Given the description of an element on the screen output the (x, y) to click on. 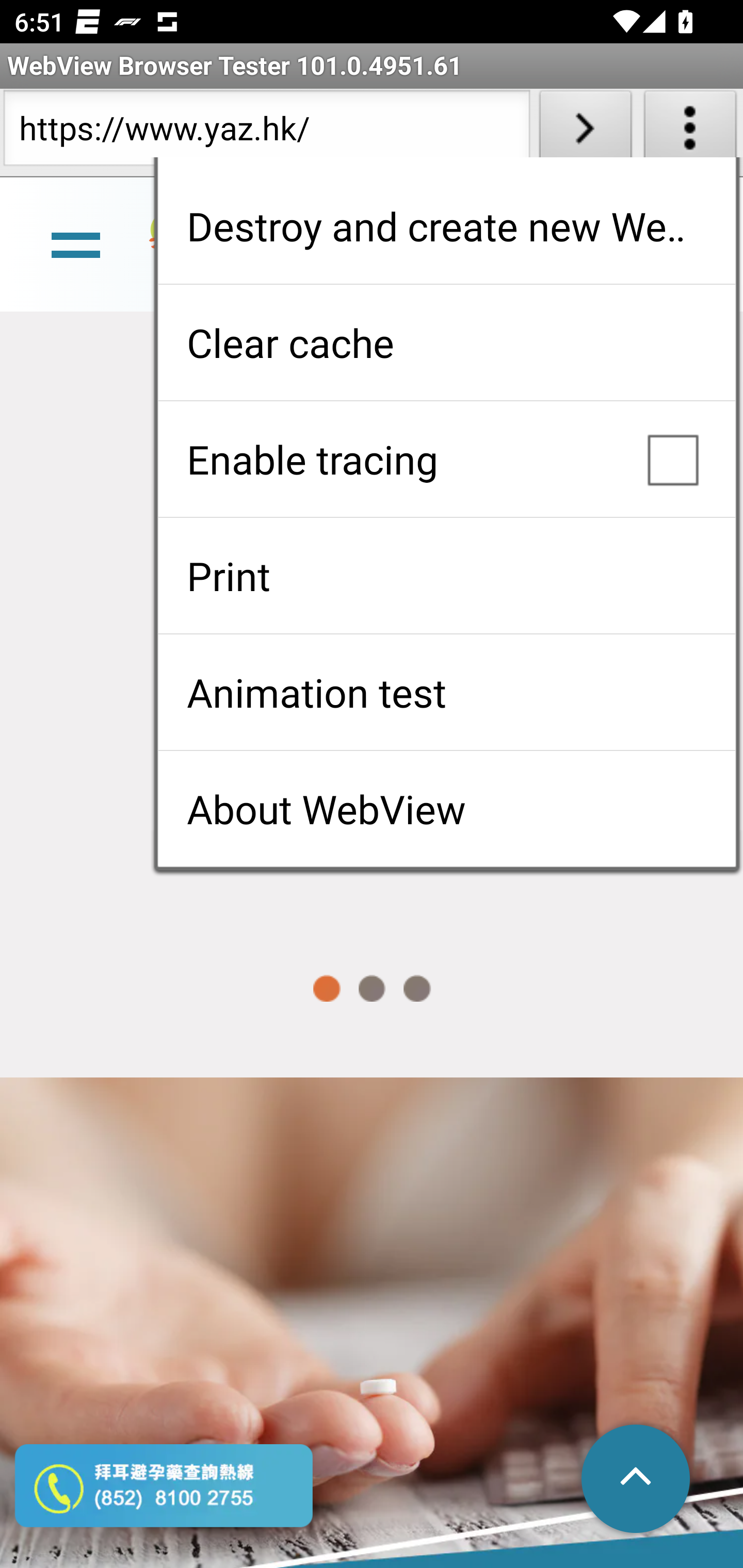
Destroy and create new WebView (446, 225)
Clear cache (446, 342)
Enable tracing (446, 459)
Print (446, 575)
Animation test (446, 692)
About WebView (446, 809)
